Given the description of an element on the screen output the (x, y) to click on. 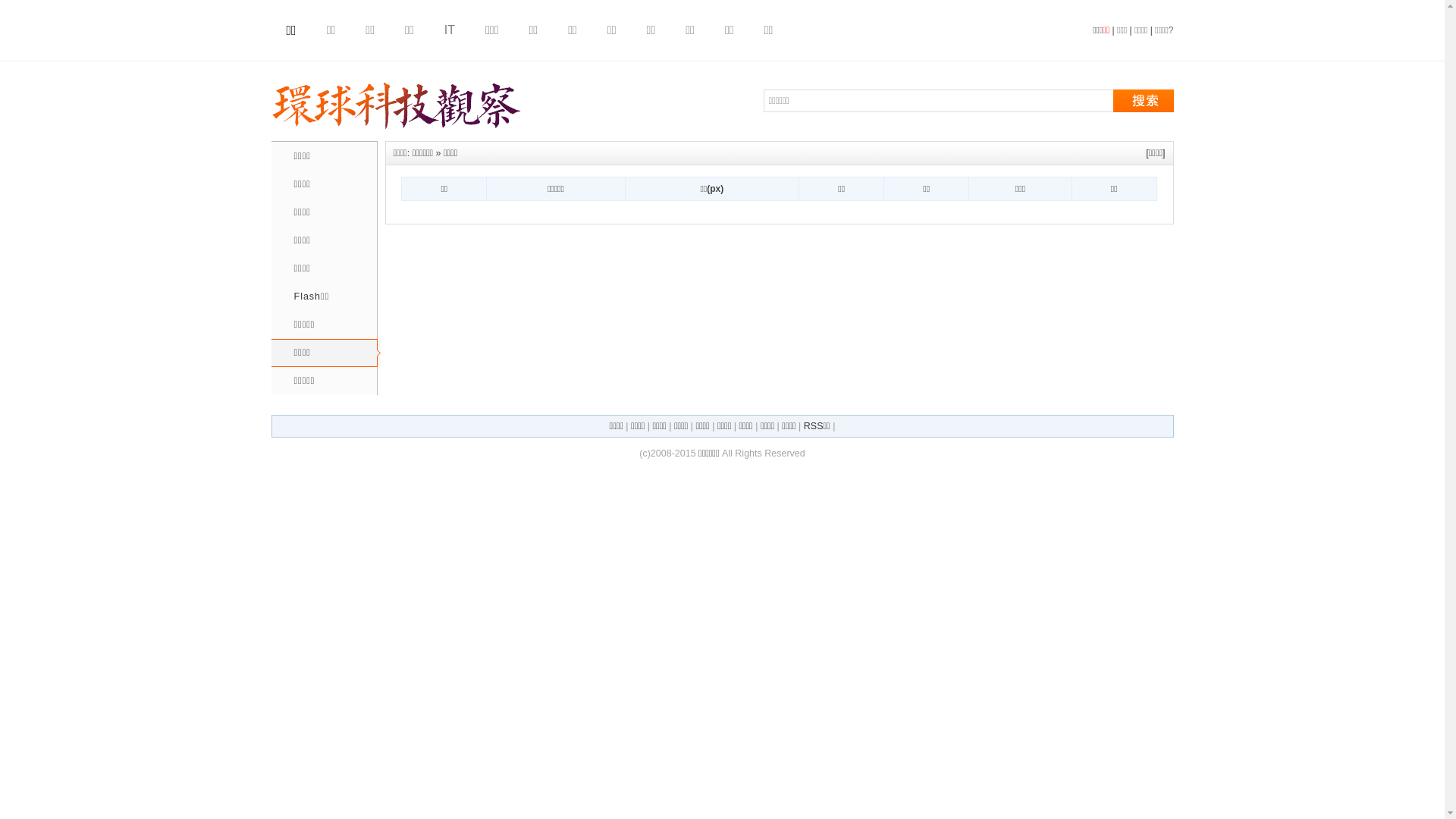
IT Element type: text (449, 29)
